Given the description of an element on the screen output the (x, y) to click on. 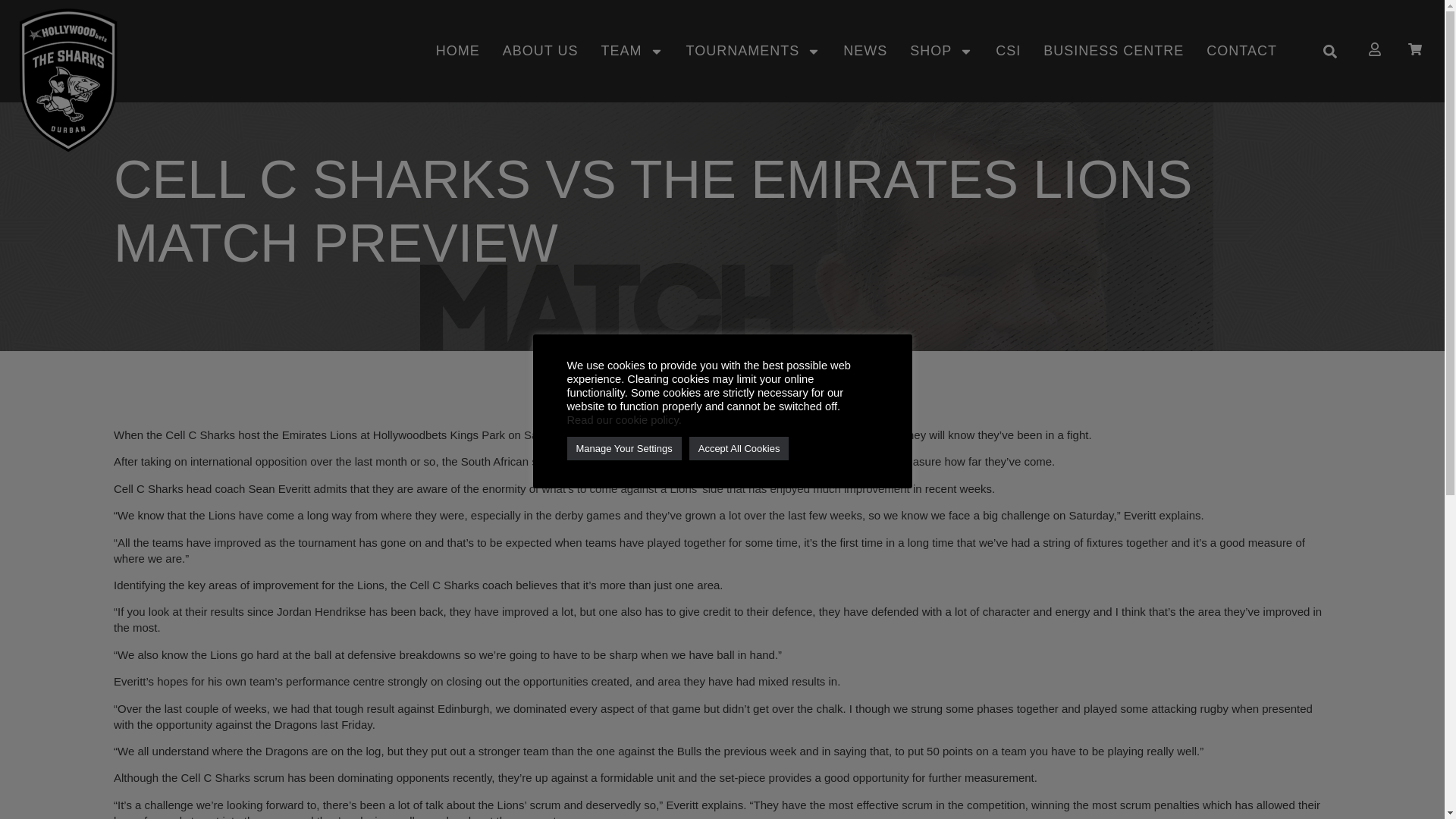
CONTACT (1241, 51)
TEAM (632, 51)
TOURNAMENTS (753, 51)
NEWS (864, 51)
BUSINESS CENTRE (1113, 51)
SHOP (941, 51)
HOME (457, 51)
ABOUT US (540, 51)
